Given the description of an element on the screen output the (x, y) to click on. 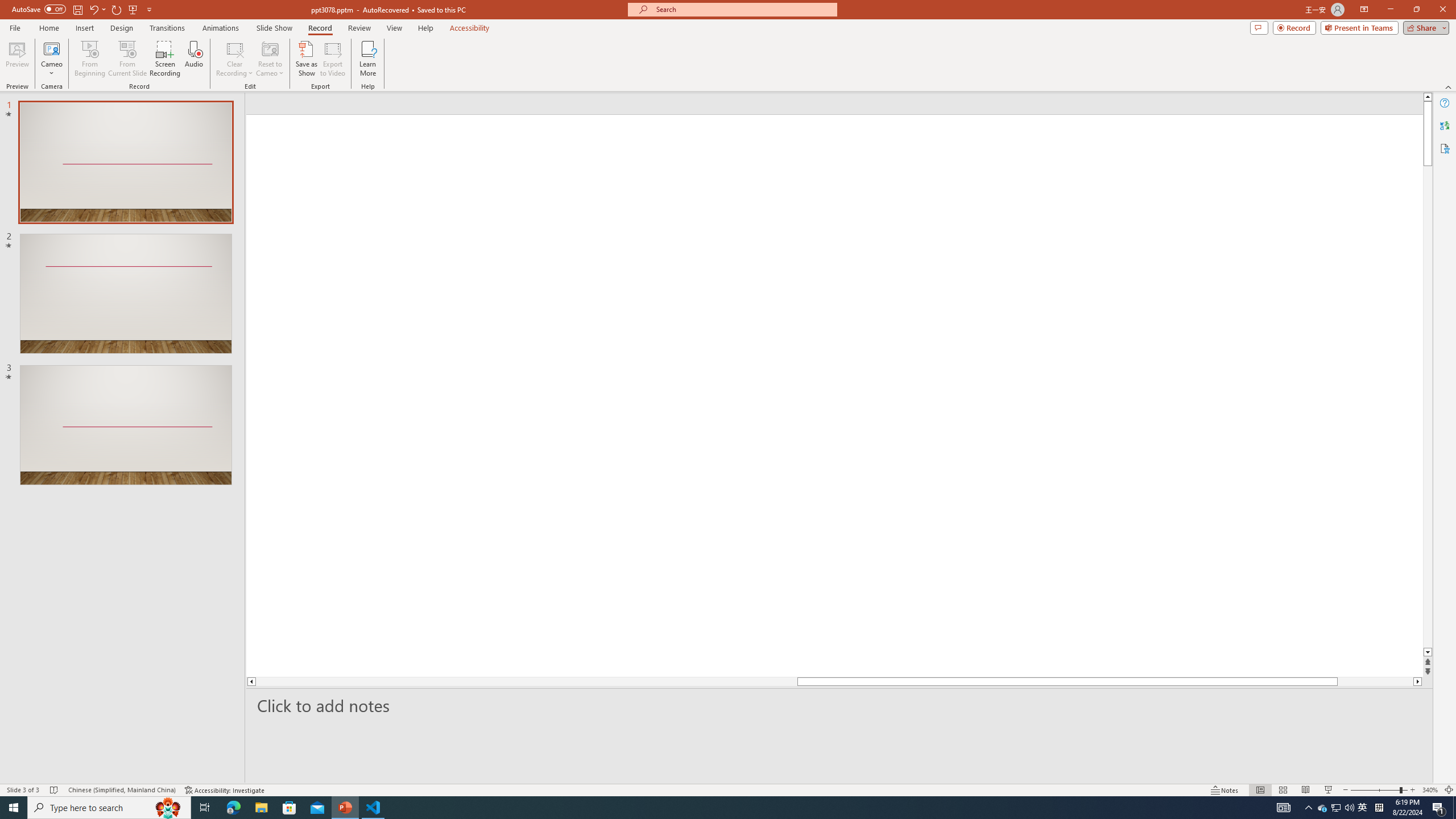
An abstract genetic concept (834, 395)
